Given the description of an element on the screen output the (x, y) to click on. 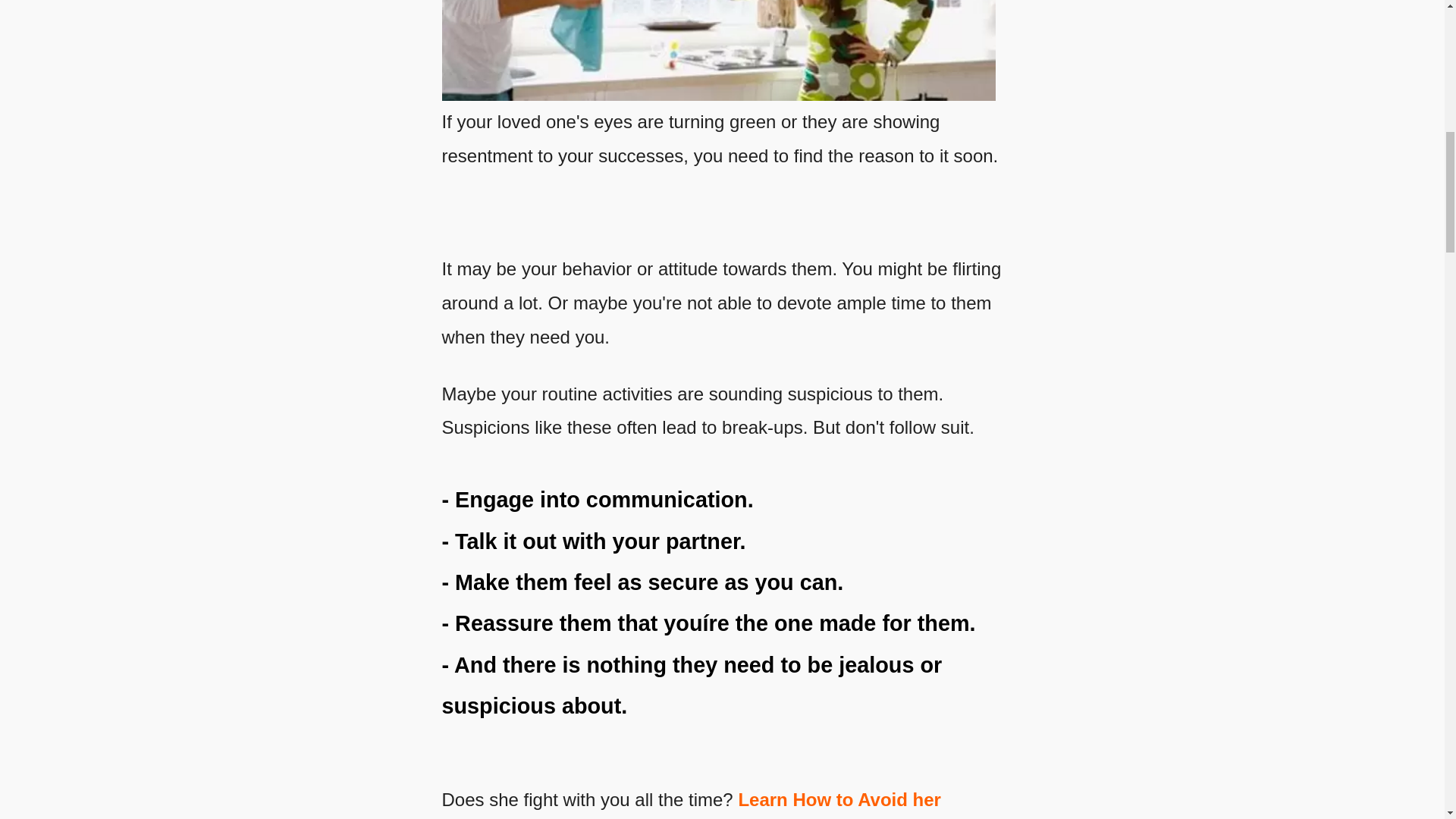
deal with suspicious girlfriend (717, 50)
